Given the description of an element on the screen output the (x, y) to click on. 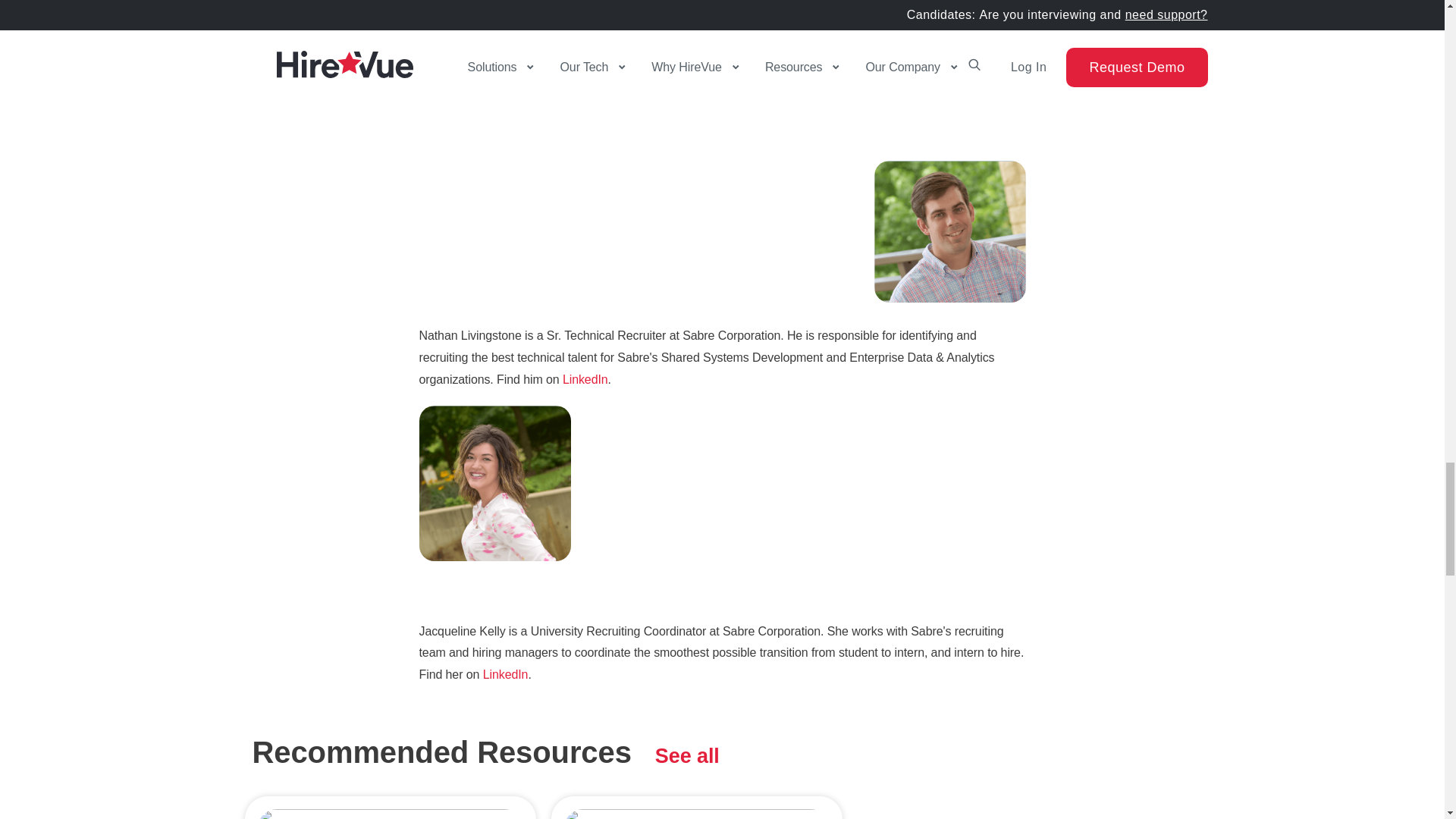
Nathan Livingstone.png (949, 231)
LinkedIn (505, 674)
Jacqueline Kelly.png (494, 482)
See all (687, 755)
Marsha Gehant.jpg (494, 31)
LinkedIn (585, 379)
5 Quick Ways to Hire Smarter Right Now (695, 807)
